Given the description of an element on the screen output the (x, y) to click on. 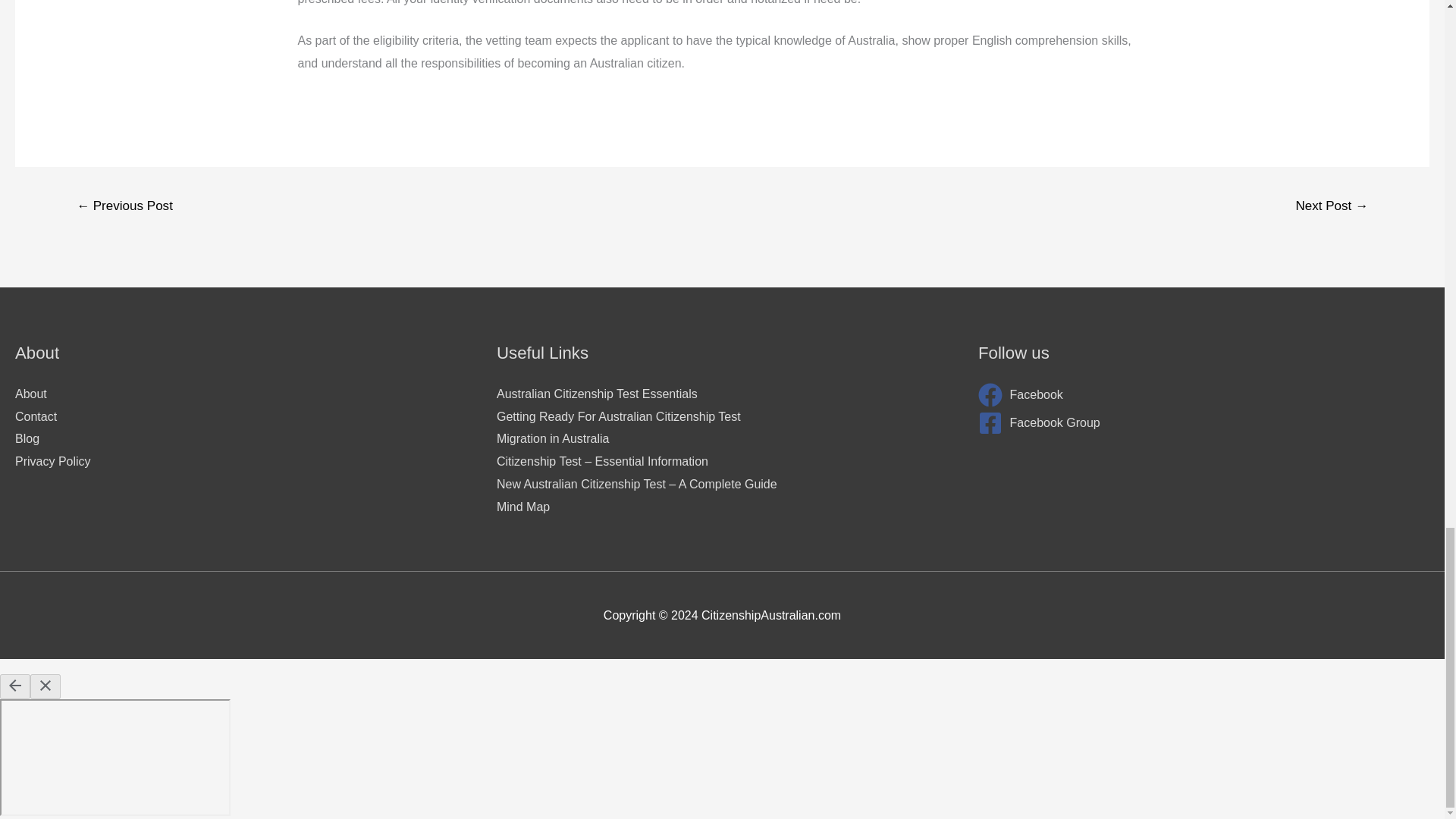
Australian Citizenship Test Essentials (596, 393)
Getting Ready For Australian Citizenship Test (618, 416)
About (30, 393)
Facebook Group (1203, 422)
Mind Map (523, 506)
Facebook (1203, 395)
What to Expect When Taking the Australian Citizenship Test (124, 207)
How to Pass for The Australian Citizenship Test (1331, 207)
Privacy Policy (52, 461)
Blog (26, 438)
